Given the description of an element on the screen output the (x, y) to click on. 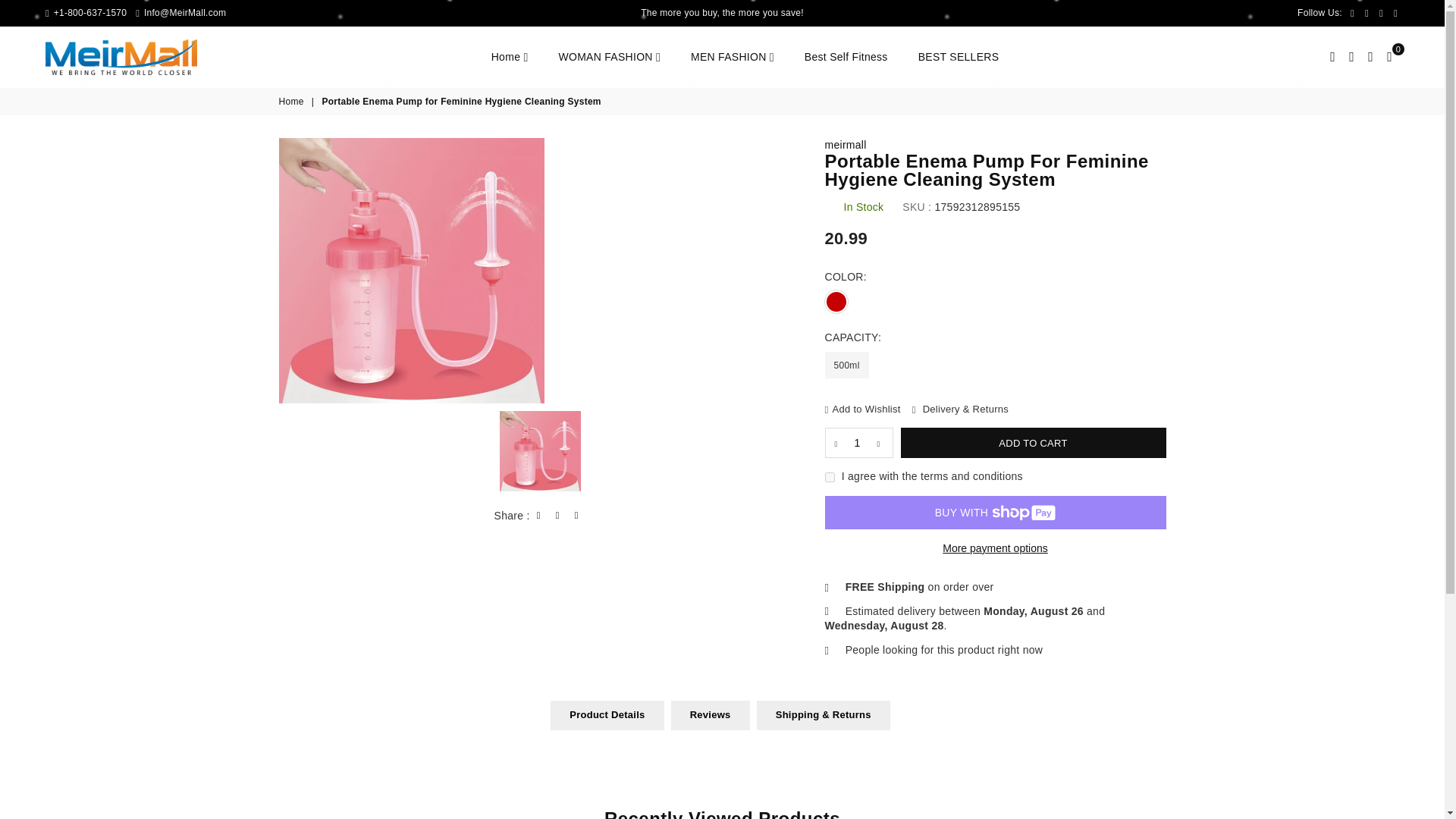
Home (510, 56)
Twitter (1366, 13)
MeirMall on YouTube (1396, 13)
YouTube (1396, 13)
meirmall (845, 144)
tearm (829, 477)
Back to the home page (292, 101)
MeirMall on Instagram (1381, 13)
Instagram (1381, 13)
Facebook (1352, 13)
